Given the description of an element on the screen output the (x, y) to click on. 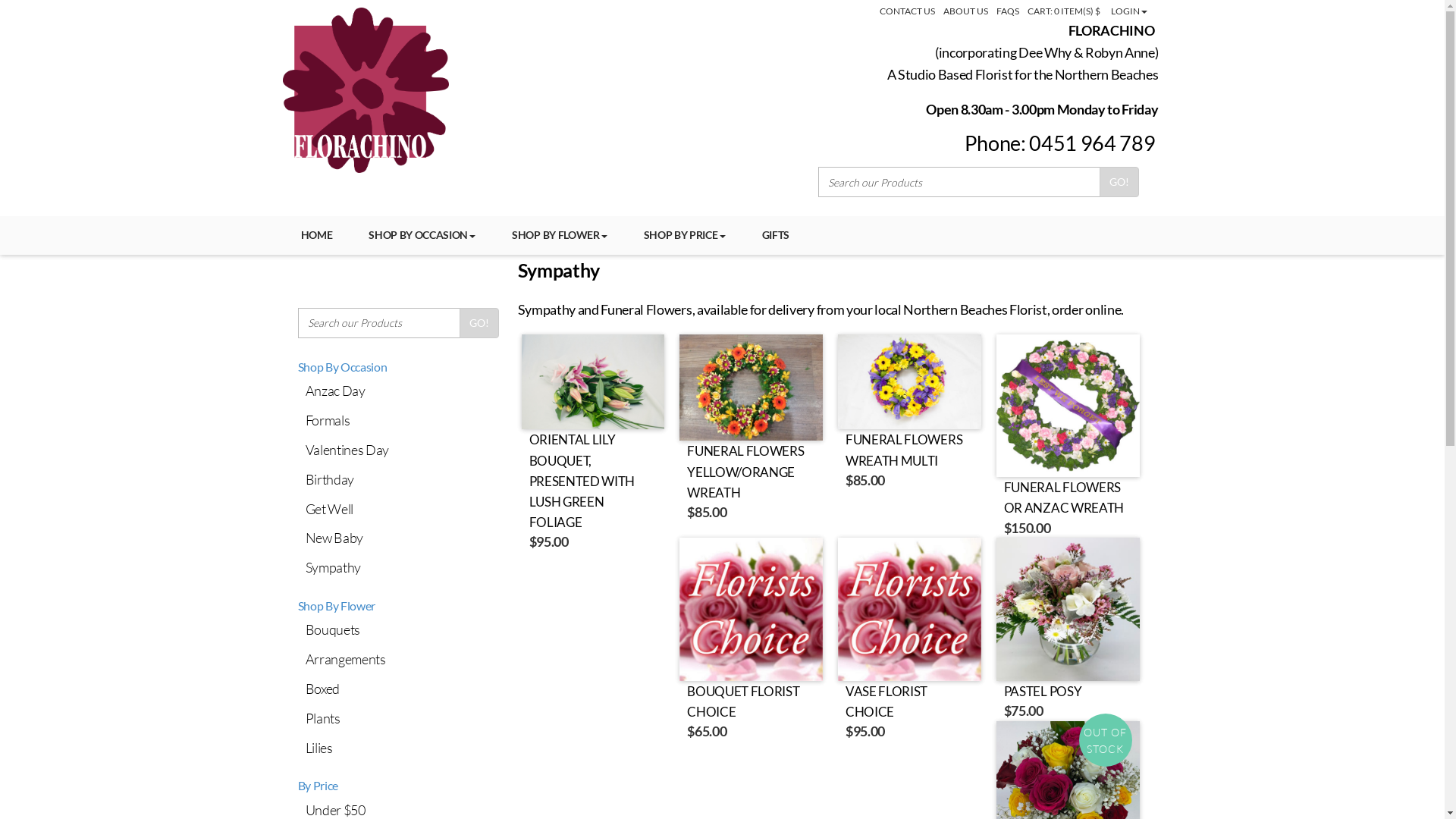
Get Well Element type: text (401, 509)
GO! Element type: text (478, 322)
Birthday Element type: text (401, 479)
FAQS Element type: text (1007, 11)
Valentines Day Element type: text (401, 449)
Anzac Day Element type: text (401, 390)
SHOP BY PRICE Element type: text (684, 235)
Arrangements Element type: text (401, 659)
Bouquets Element type: text (401, 629)
0451 964 789 Element type: text (1091, 142)
GIFTS Element type: text (774, 235)
Lilies Element type: text (401, 747)
CART: 0 ITEM(S) $ Element type: text (1063, 11)
ABOUT US Element type: text (965, 11)
LOGIN Element type: text (1129, 11)
By Price Element type: text (317, 785)
GO! Element type: text (1119, 181)
Shop By Flower Element type: text (336, 605)
Plants Element type: text (401, 718)
Shop By Occasion Element type: text (341, 366)
New Baby Element type: text (401, 537)
SHOP BY OCCASION Element type: text (421, 235)
Sympathy Element type: text (401, 567)
SHOP BY FLOWER Element type: text (559, 235)
Boxed Element type: text (401, 688)
Formals Element type: text (401, 420)
CONTACT US Element type: text (907, 11)
HOME Element type: text (316, 235)
